Given the description of an element on the screen output the (x, y) to click on. 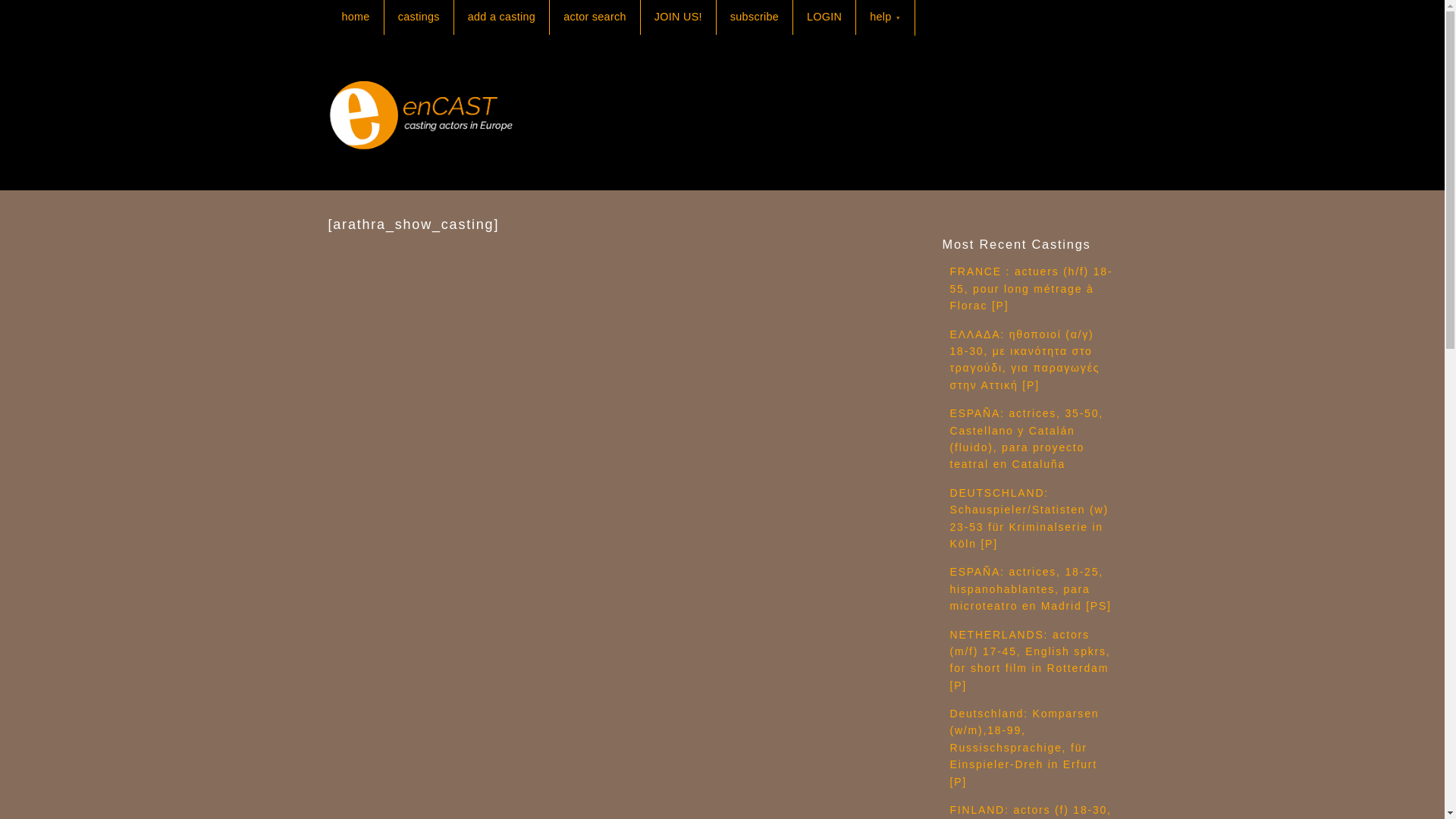
actor search (595, 17)
JOIN US! (678, 17)
LOGIN (824, 17)
castings (418, 17)
subscribe (754, 17)
add a casting (501, 17)
help (885, 18)
home (354, 17)
